Given the description of an element on the screen output the (x, y) to click on. 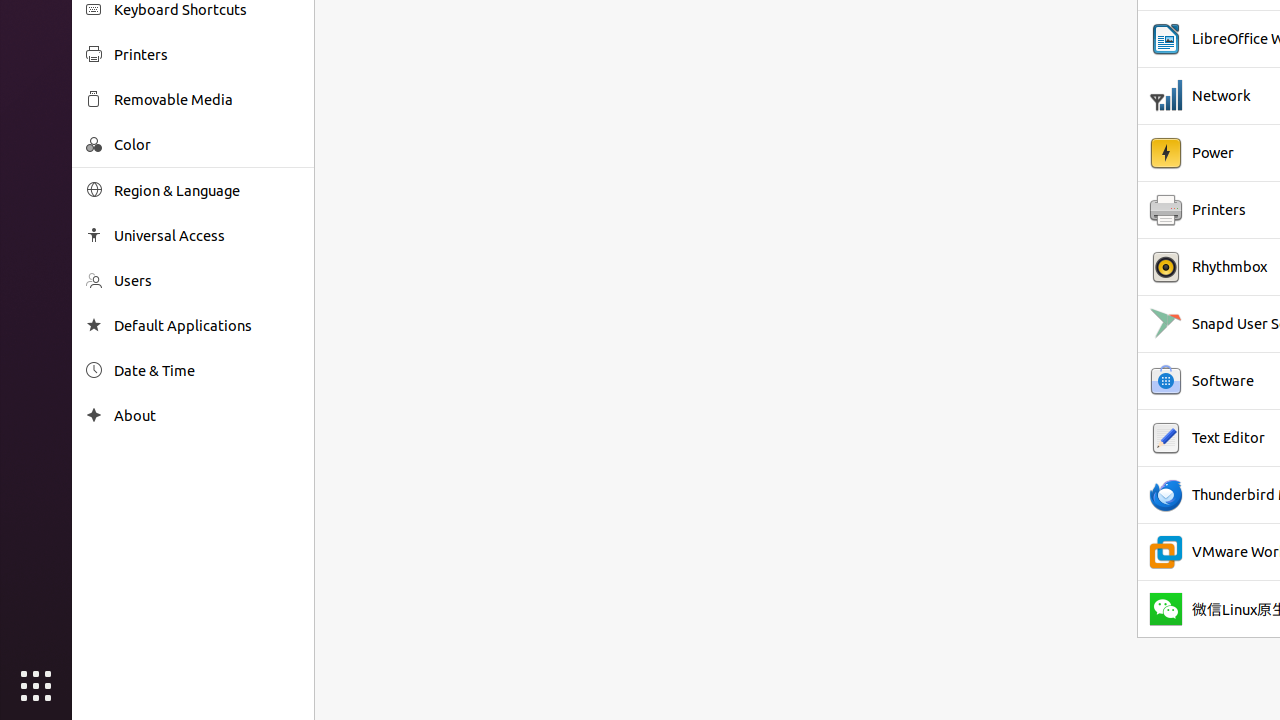
Removable Media Element type: label (207, 99)
Printers Element type: label (207, 54)
Users Element type: label (207, 280)
Keyboard Shortcuts Element type: label (207, 9)
